Given the description of an element on the screen output the (x, y) to click on. 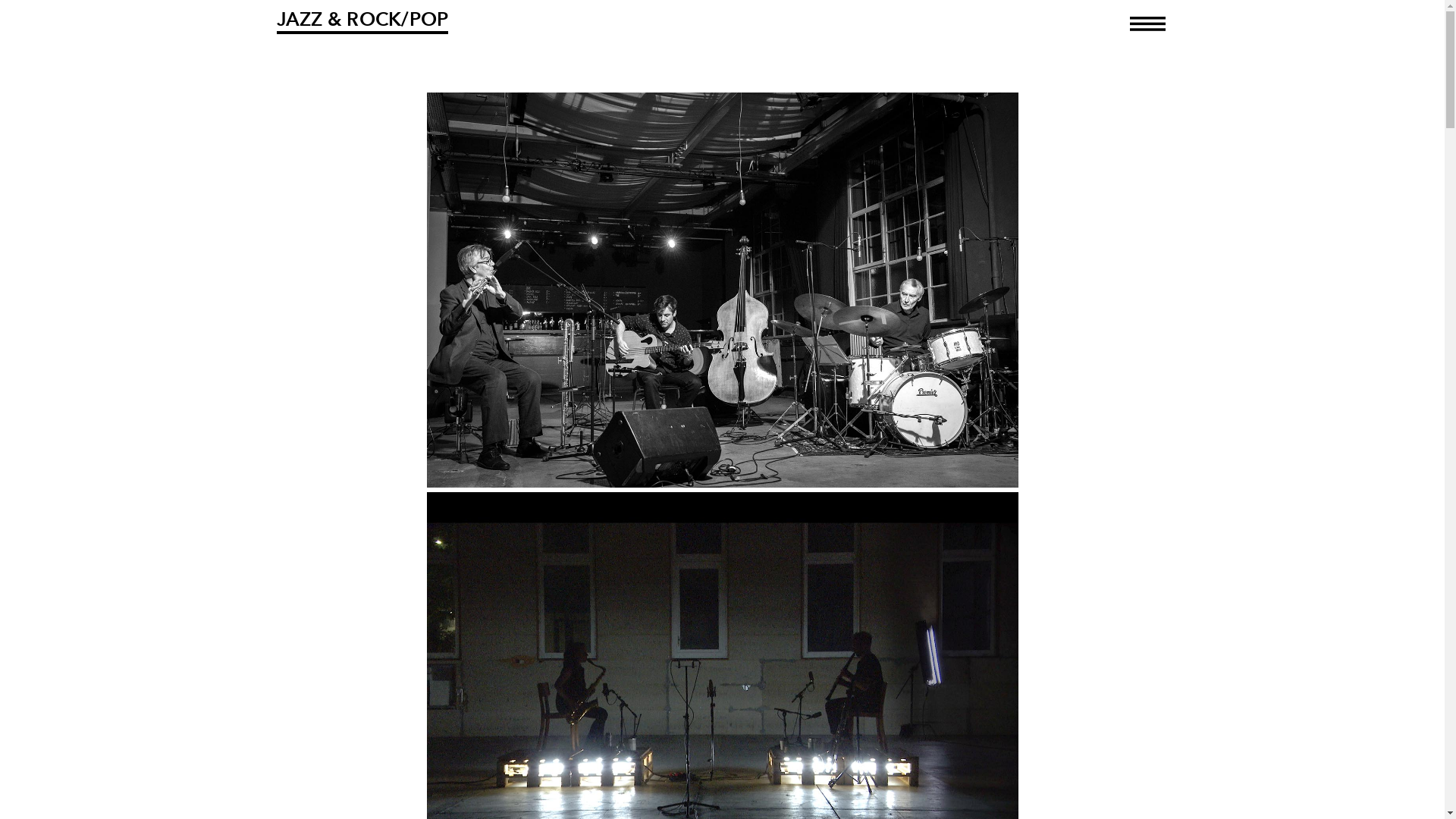
JAZZ & ROCK/POP Element type: text (362, 20)
